Given the description of an element on the screen output the (x, y) to click on. 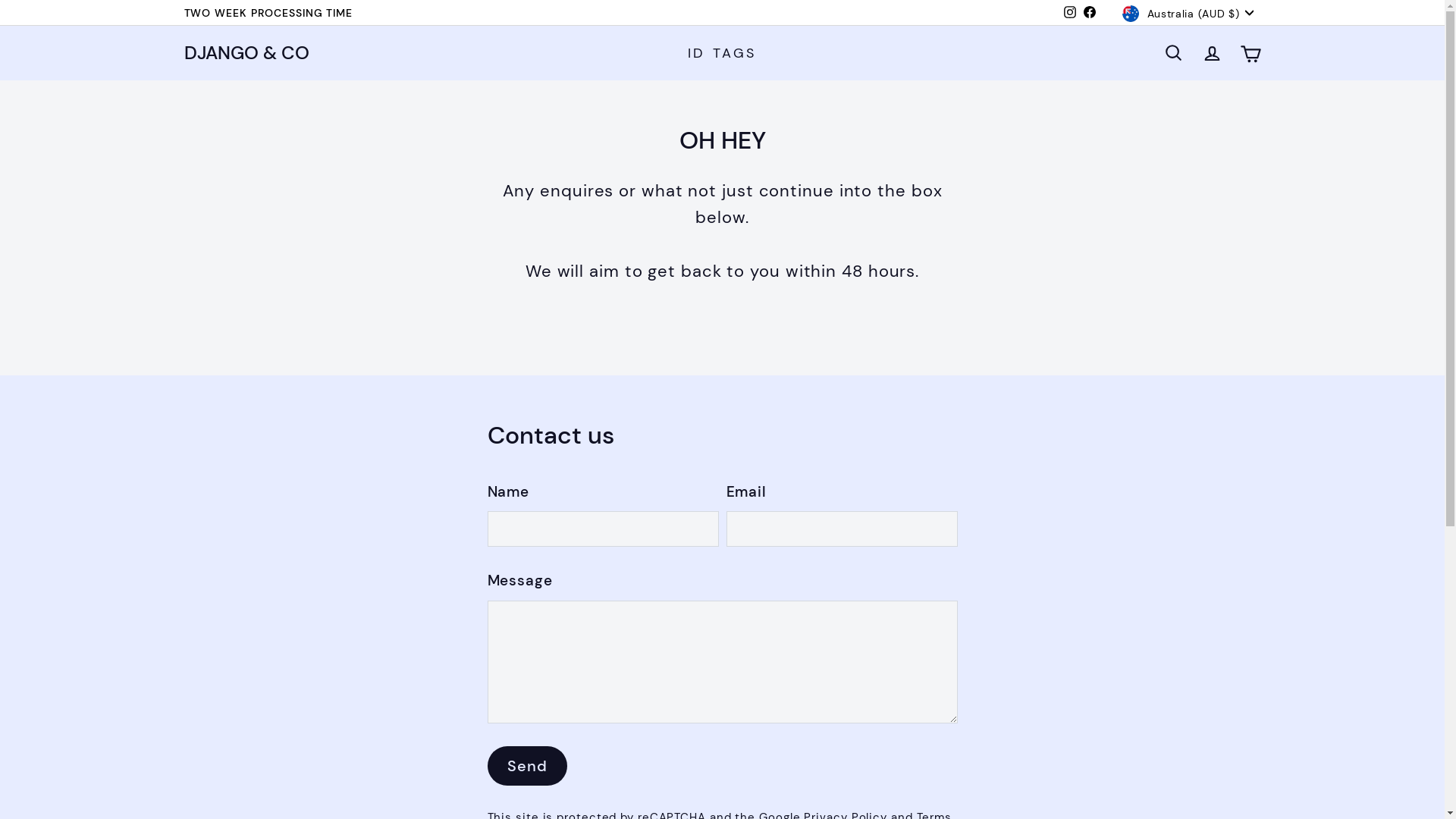
Australia (AUD $) Element type: text (1191, 12)
DJANGO & CO Element type: text (245, 53)
CART Element type: text (1250, 52)
Facebook Element type: text (1089, 12)
ID TAGS Element type: text (721, 53)
SEARCH Element type: text (1173, 52)
instagram
Instagram Element type: text (1069, 12)
ACCOUNT Element type: text (1211, 52)
Send Element type: text (526, 765)
